Given the description of an element on the screen output the (x, y) to click on. 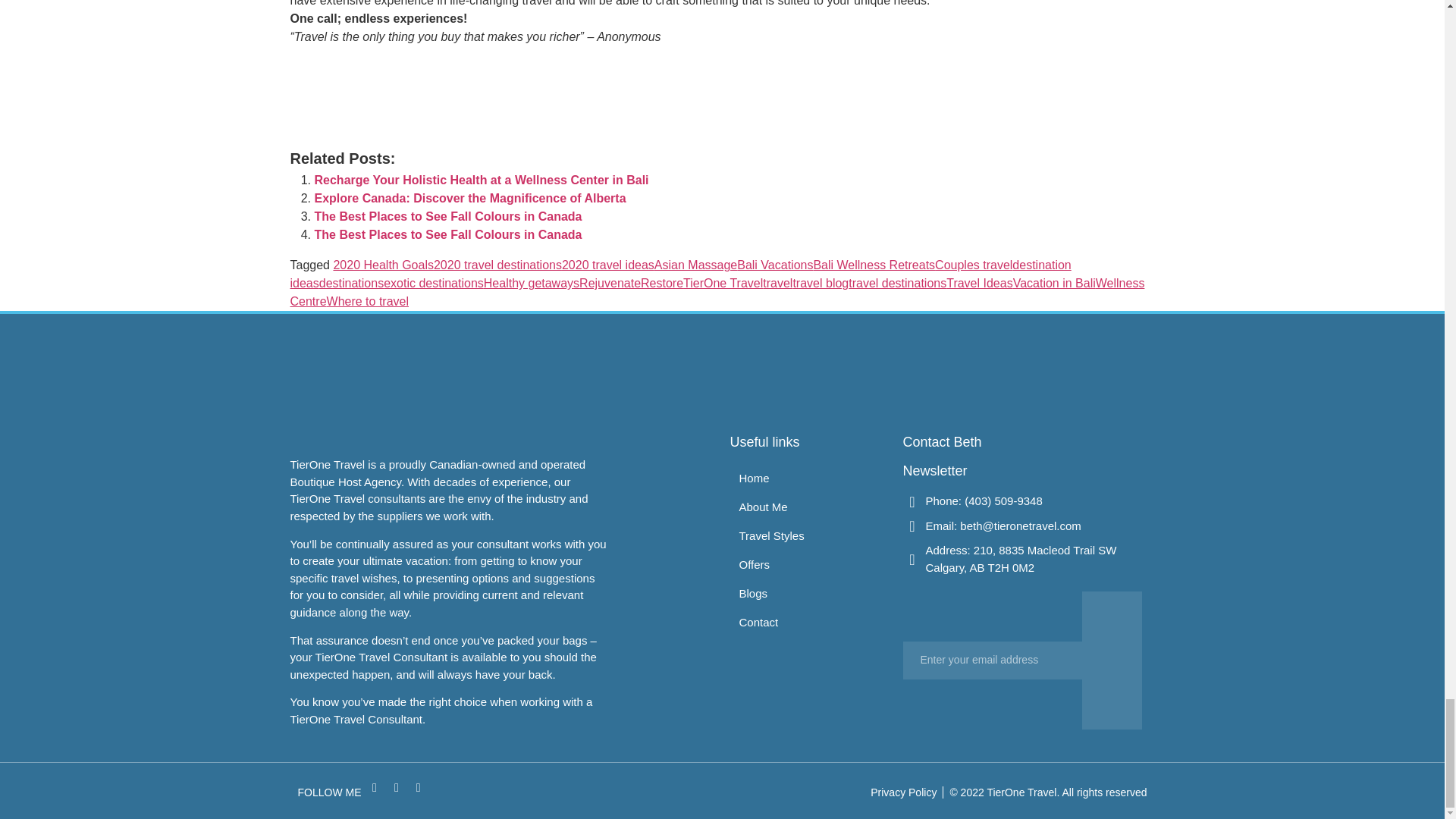
The Best Places to See Fall Colours in Canada (447, 234)
Explore Canada: Discover the Magnificence of Alberta (470, 197)
The Best Places to See Fall Colours in Canada (447, 215)
Recharge Your Holistic Health at a Wellness Center in Bali (480, 179)
